Given the description of an element on the screen output the (x, y) to click on. 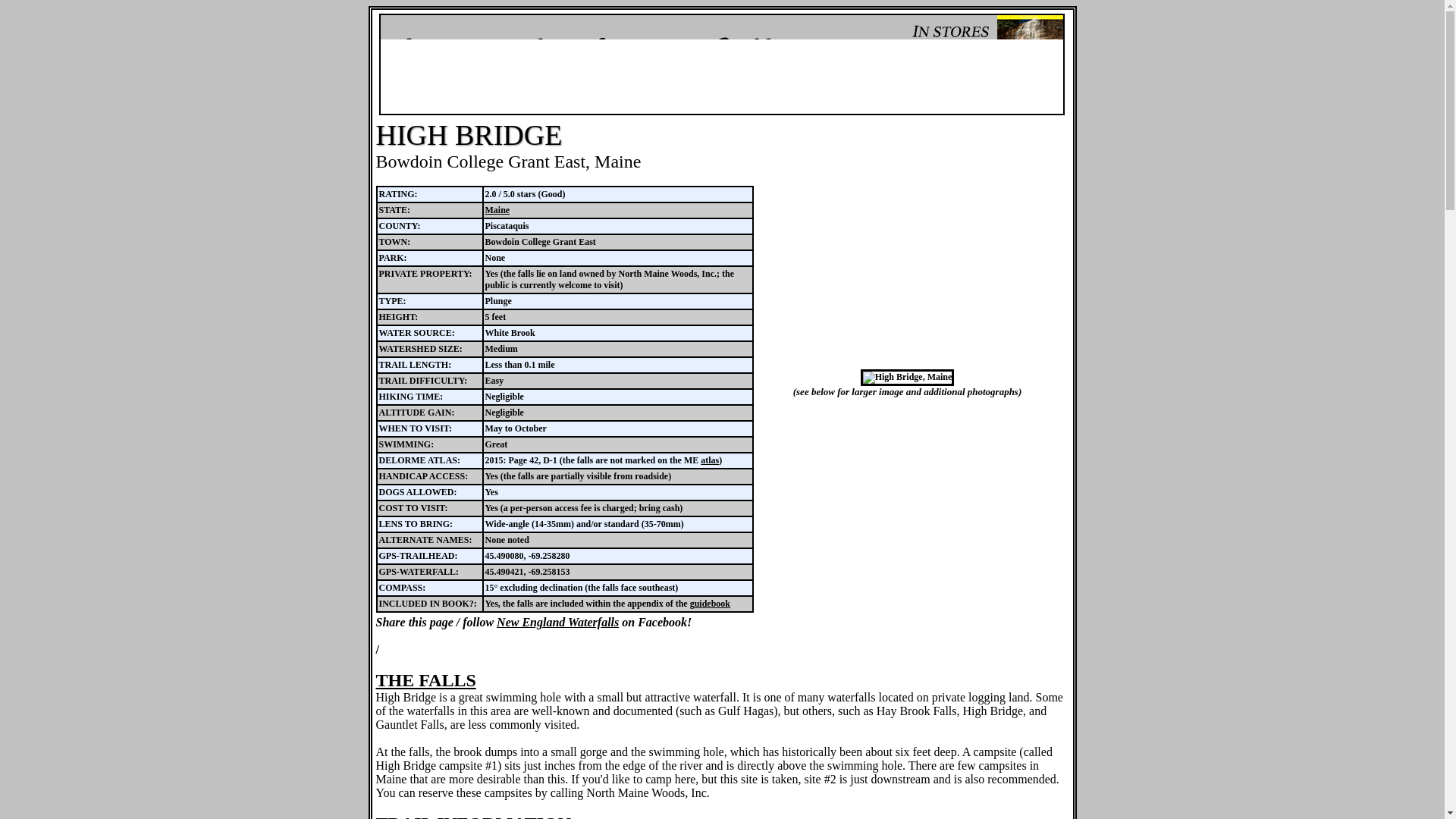
very small, small, medium, large or extremely large (420, 348)
guidebook (710, 603)
block, cascades, fan, horsetail, plunge, or punchbowl (392, 300)
Maine (497, 209)
atlas (709, 460)
High Bridge, Maine (907, 376)
New England Waterfalls (557, 621)
